Given the description of an element on the screen output the (x, y) to click on. 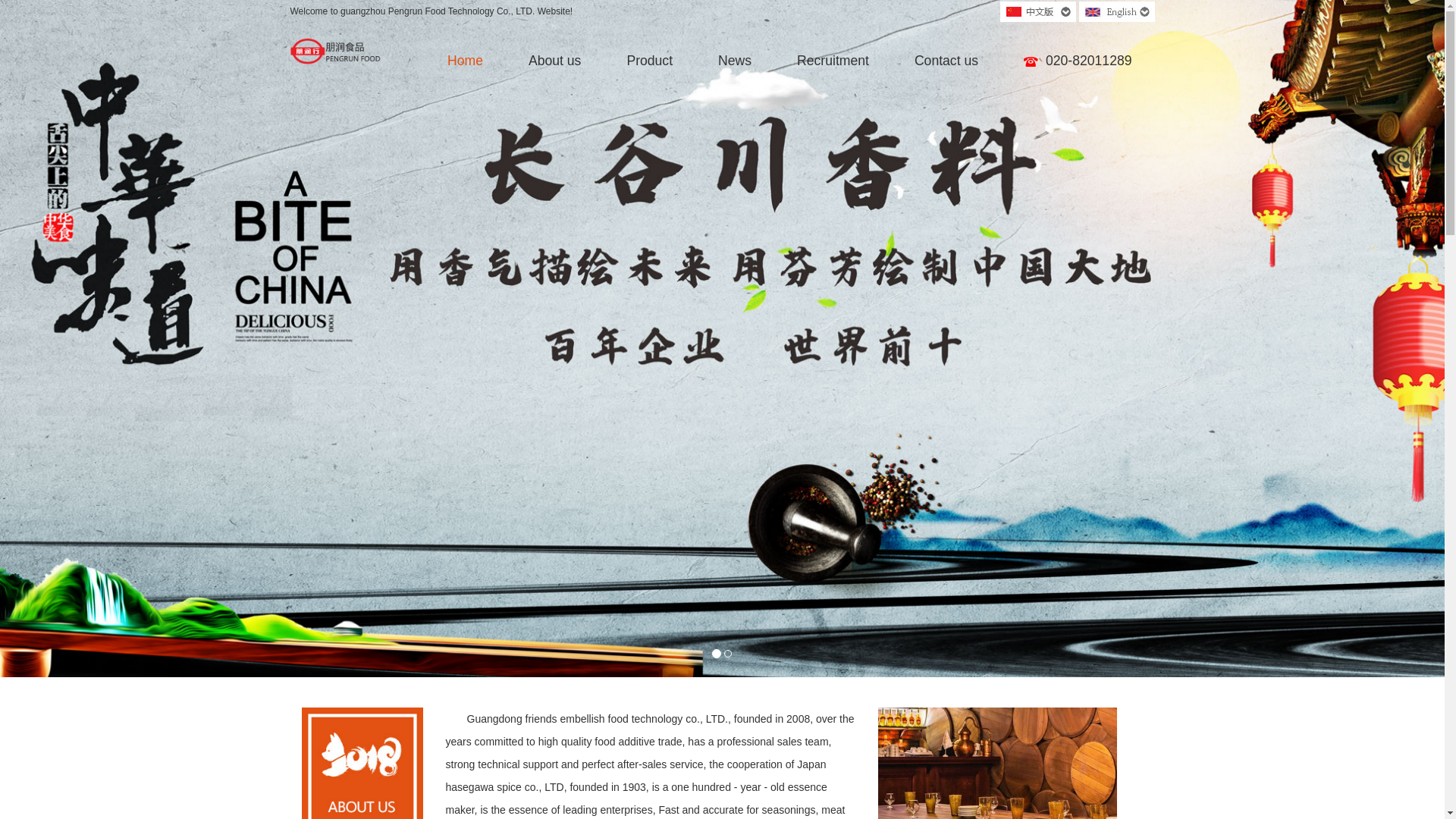
Contact us Element type: text (946, 60)
Product Element type: text (649, 60)
About us Element type: text (554, 60)
Home Element type: text (465, 60)
News Element type: text (734, 60)
Recruitment Element type: text (833, 60)
